Given the description of an element on the screen output the (x, y) to click on. 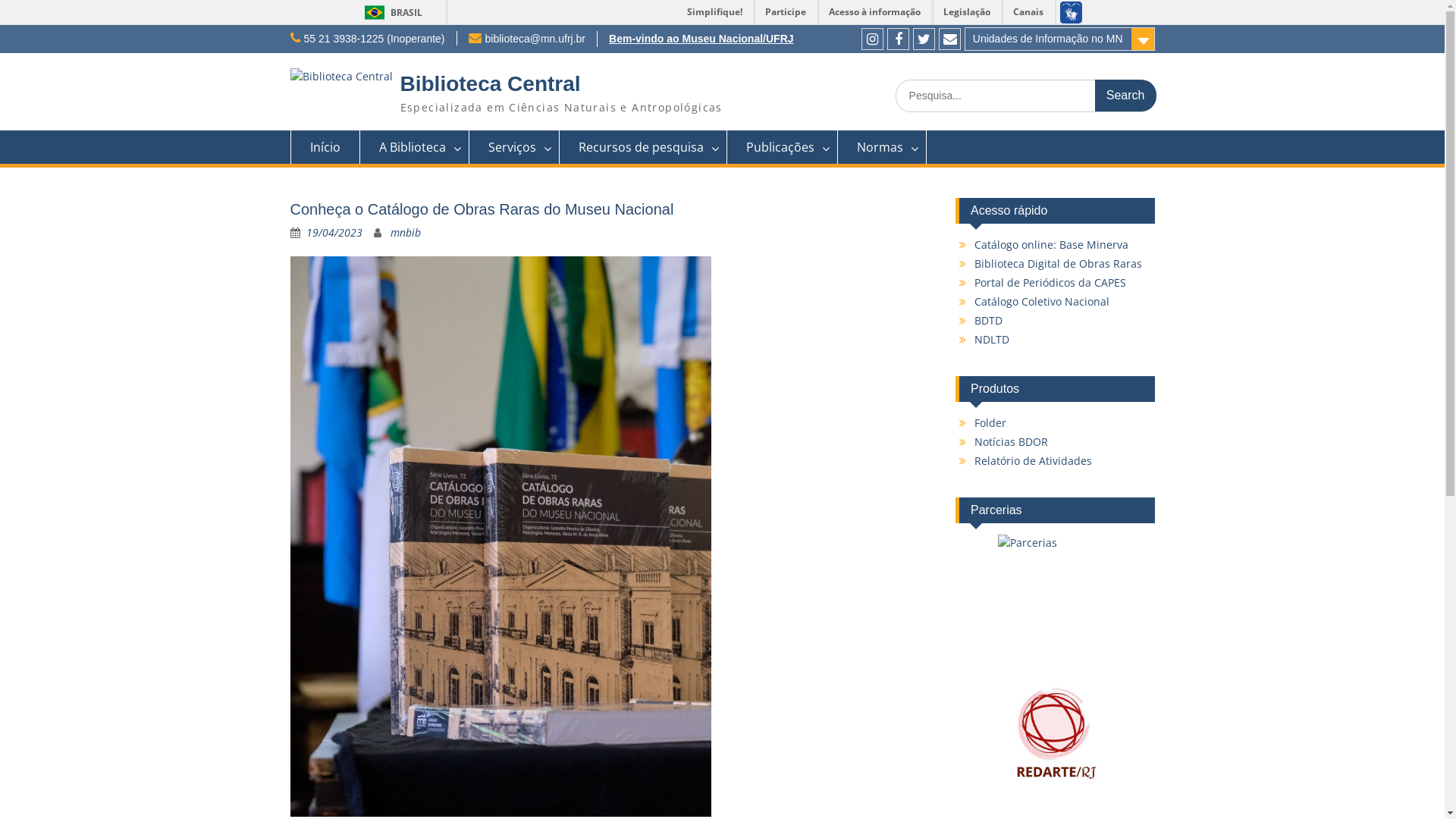
biblioteca@mn.ufrj.br Element type: text (535, 38)
Recursos de pesquisa Element type: text (643, 146)
BRASIL Element type: text (389, 12)
Twitter Element type: text (924, 39)
mnbib Element type: text (404, 232)
19/04/2023 Element type: text (334, 232)
Facebook Element type: text (898, 39)
Search Element type: text (1125, 95)
NDLTD Element type: text (991, 339)
Search for: Element type: hover (1024, 95)
BDTD Element type: text (988, 320)
Biblioteca Digital de Obras Raras Element type: text (1058, 263)
Email Element type: text (949, 39)
Parcerias Element type: hover (1054, 591)
Bem-vindo ao Museu Nacional/UFRJ Element type: text (700, 38)
Folder Element type: text (990, 422)
Instagram Element type: text (872, 39)
Normas Element type: text (881, 146)
Biblioteca Central Element type: text (490, 83)
A Biblioteca Element type: text (413, 146)
55 21 3938-1225 (Inoperante) Element type: text (373, 38)
